Given the description of an element on the screen output the (x, y) to click on. 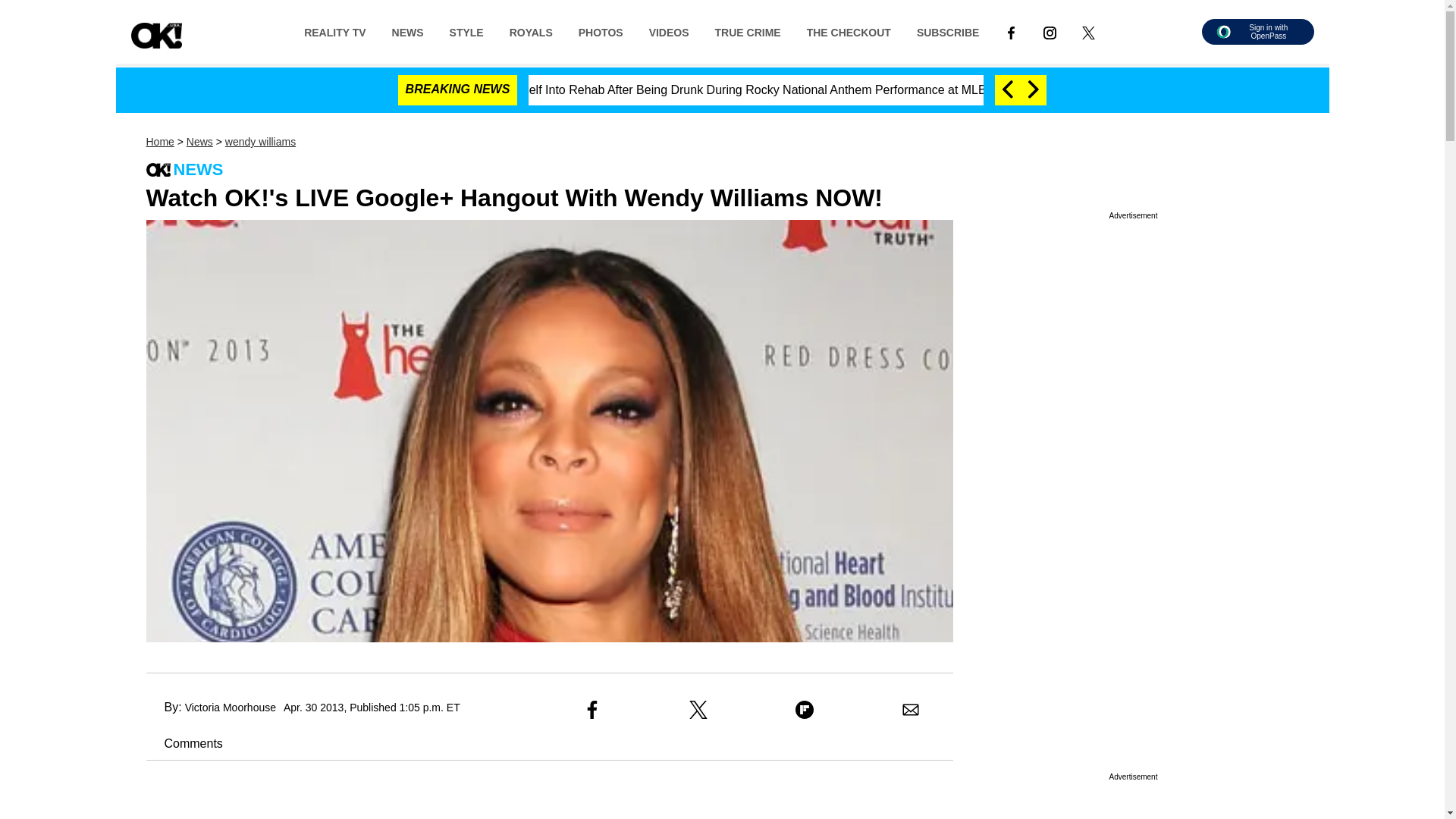
Home (159, 141)
LINK TO INSTAGRAM (1050, 32)
LINK TO FACEBOOK (1010, 31)
REALITY TV (334, 31)
Victoria Moorhouse (230, 707)
TRUE CRIME (747, 31)
wendy williams (260, 141)
Sign in with OpenPass (1257, 31)
SUBSCRIBE (947, 31)
News (199, 141)
Share to X (697, 710)
Share to Flipboard (803, 710)
Link to Facebook (1010, 31)
PHOTOS (601, 31)
